Given the description of an element on the screen output the (x, y) to click on. 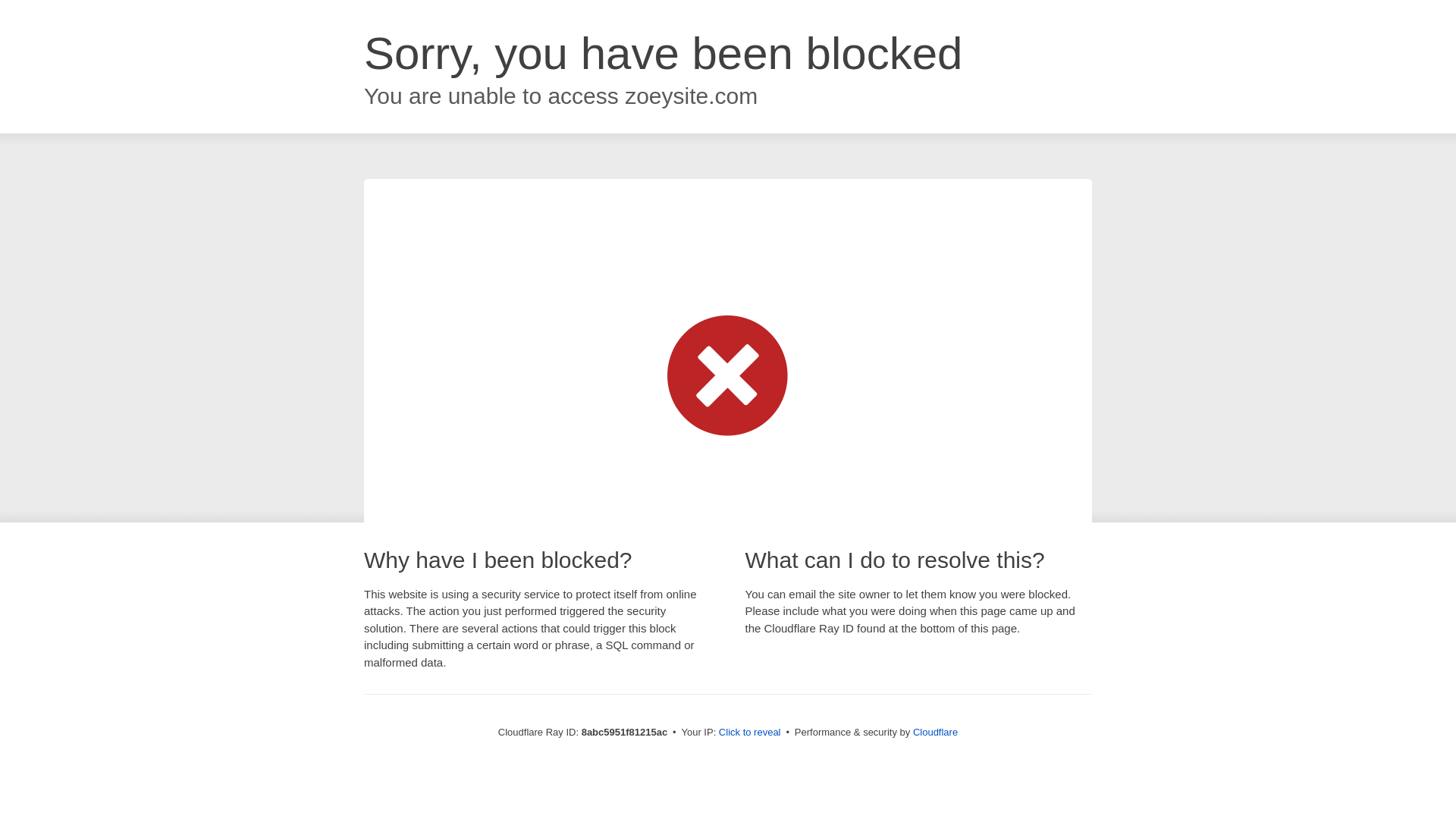
Click to reveal (749, 732)
Cloudflare (935, 731)
